Given the description of an element on the screen output the (x, y) to click on. 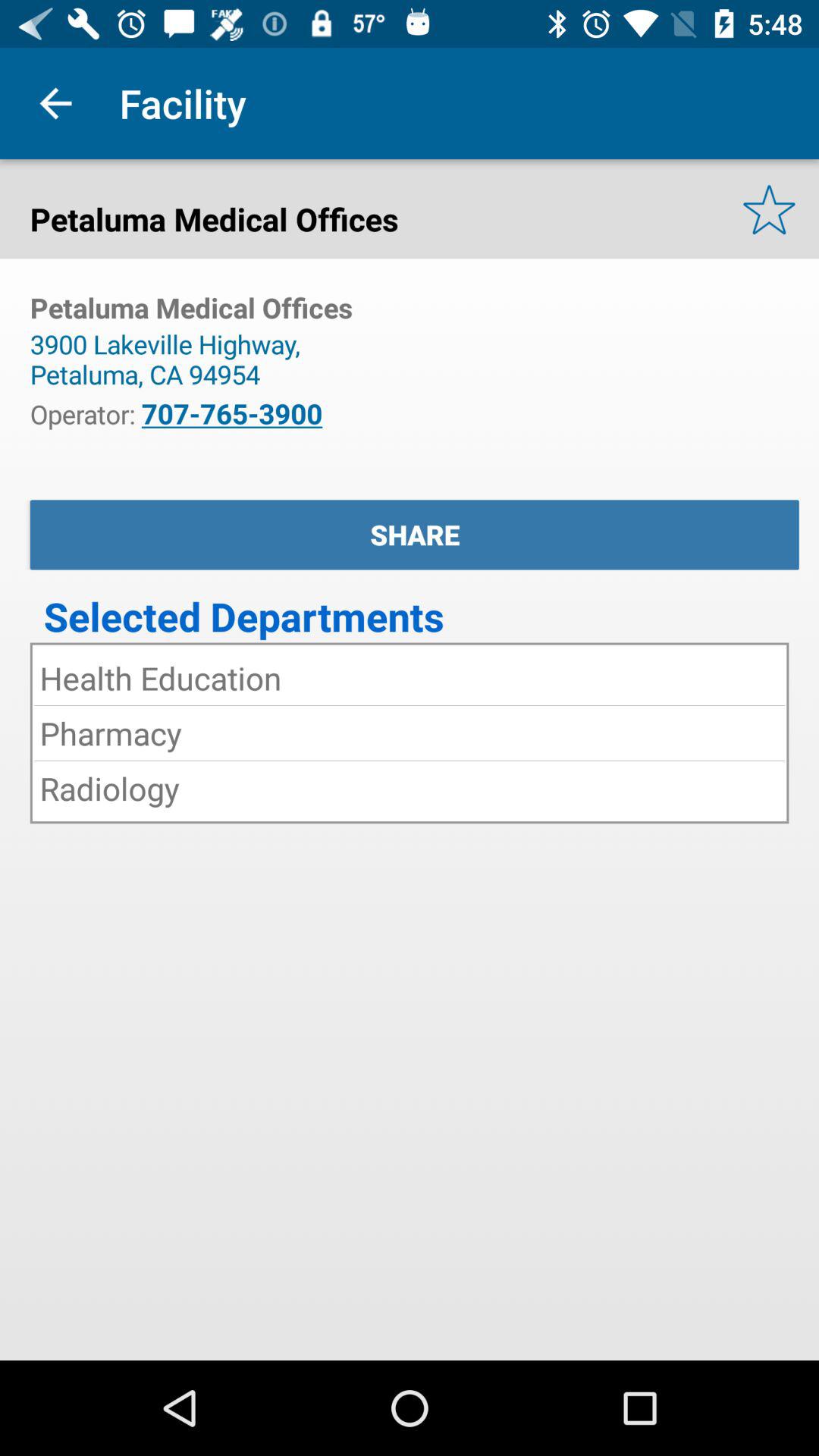
turn off share icon (414, 534)
